Given the description of an element on the screen output the (x, y) to click on. 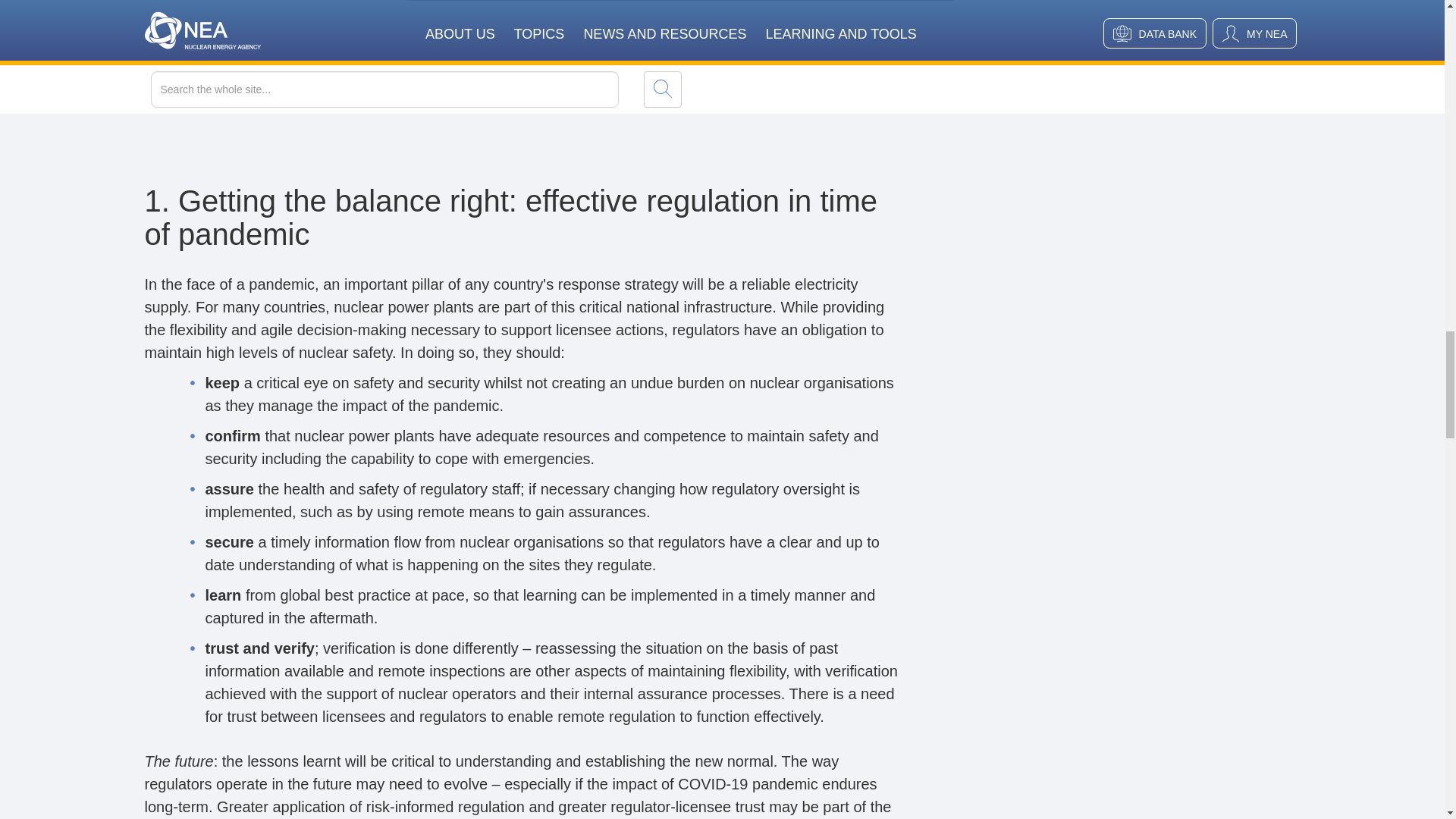
YouTube Video (523, 52)
